Given the description of an element on the screen output the (x, y) to click on. 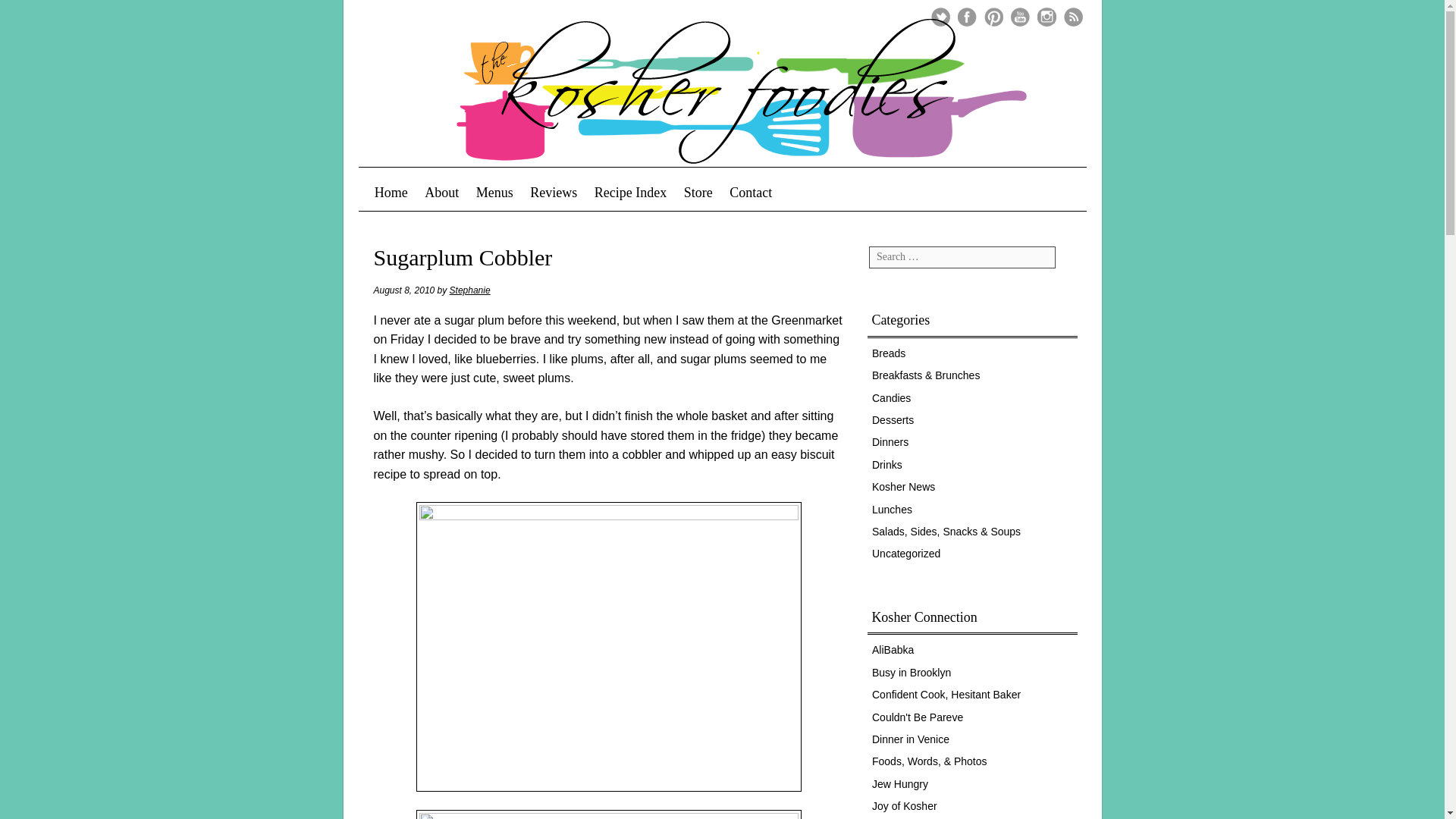
sugarplums (607, 814)
Home (390, 192)
Search (40, 21)
Candies (891, 398)
Skip to content (415, 192)
RSS Feed (1071, 16)
Instagram (1046, 16)
Menus (494, 192)
Skip to content (415, 192)
Store (697, 192)
Contact (750, 192)
Lunches (892, 509)
Youtube (1019, 16)
sugarplum with biscuit topping (607, 646)
Reviews (553, 192)
